Given the description of an element on the screen output the (x, y) to click on. 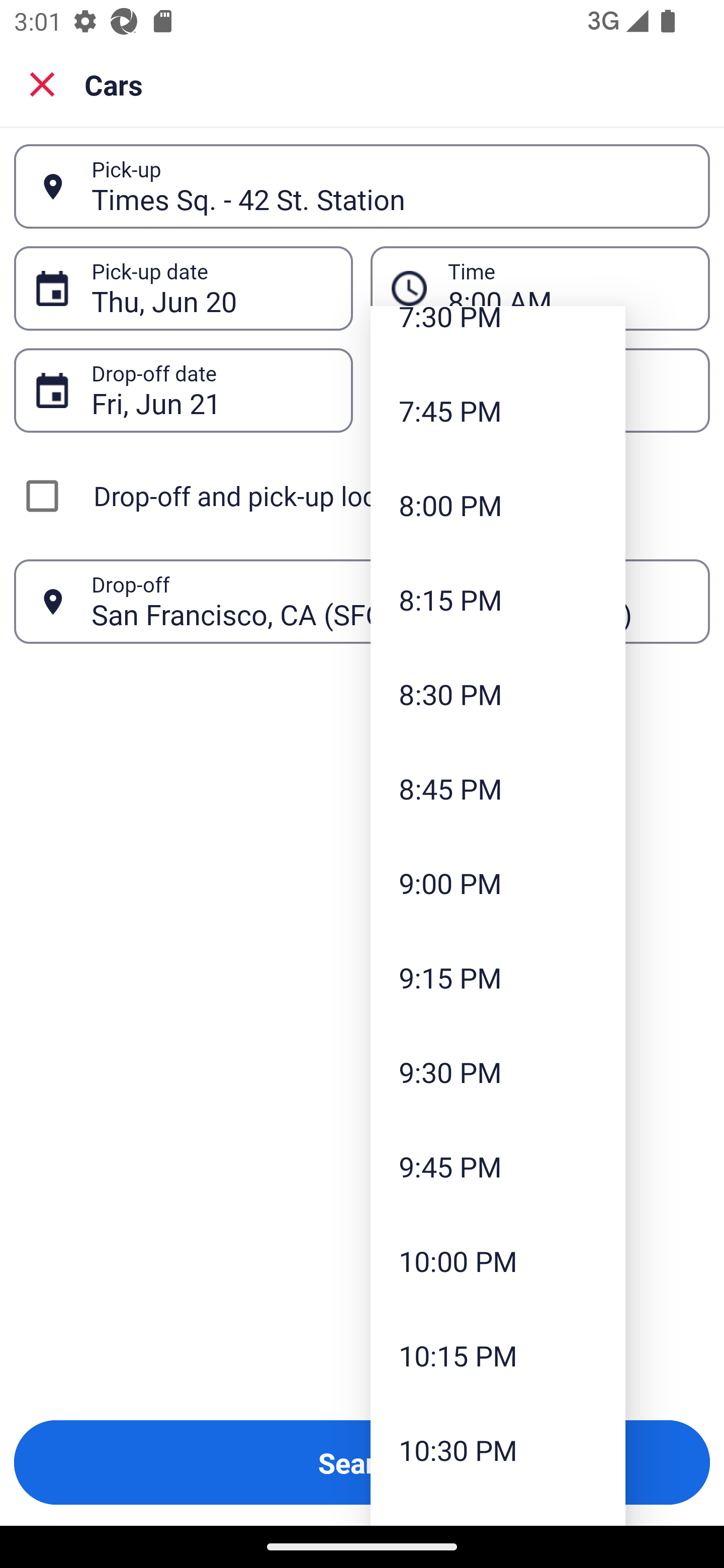
7:30 PM (497, 334)
7:45 PM (497, 410)
8:00 PM (497, 504)
8:15 PM (497, 598)
8:30 PM (497, 693)
8:45 PM (497, 788)
9:00 PM (497, 882)
9:15 PM (497, 977)
9:30 PM (497, 1072)
9:45 PM (497, 1166)
10:00 PM (497, 1260)
10:15 PM (497, 1355)
10:30 PM (497, 1450)
